Given the description of an element on the screen output the (x, y) to click on. 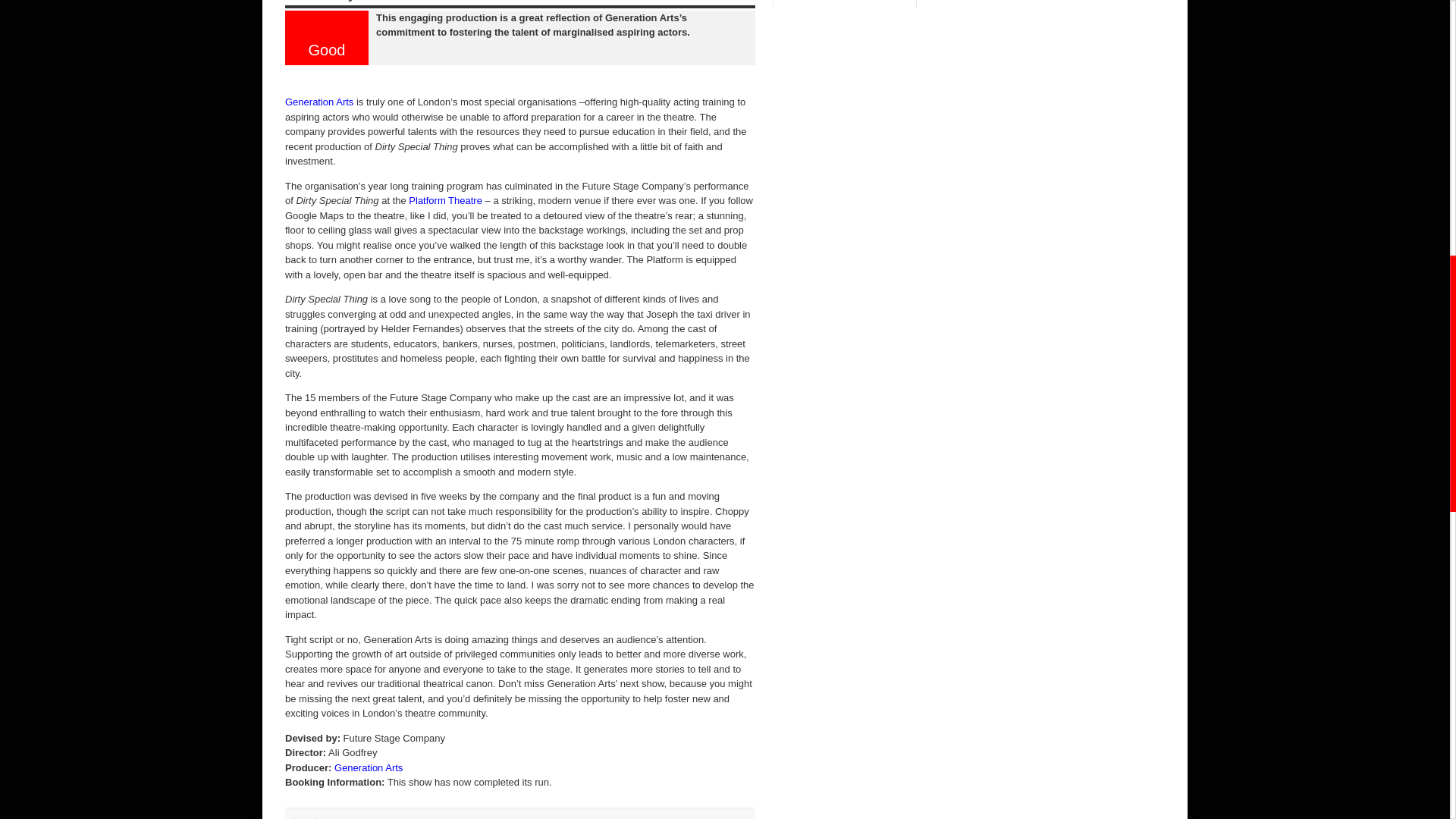
Good (326, 26)
Generation Arts (319, 101)
Platform Theatre (445, 200)
